Given the description of an element on the screen output the (x, y) to click on. 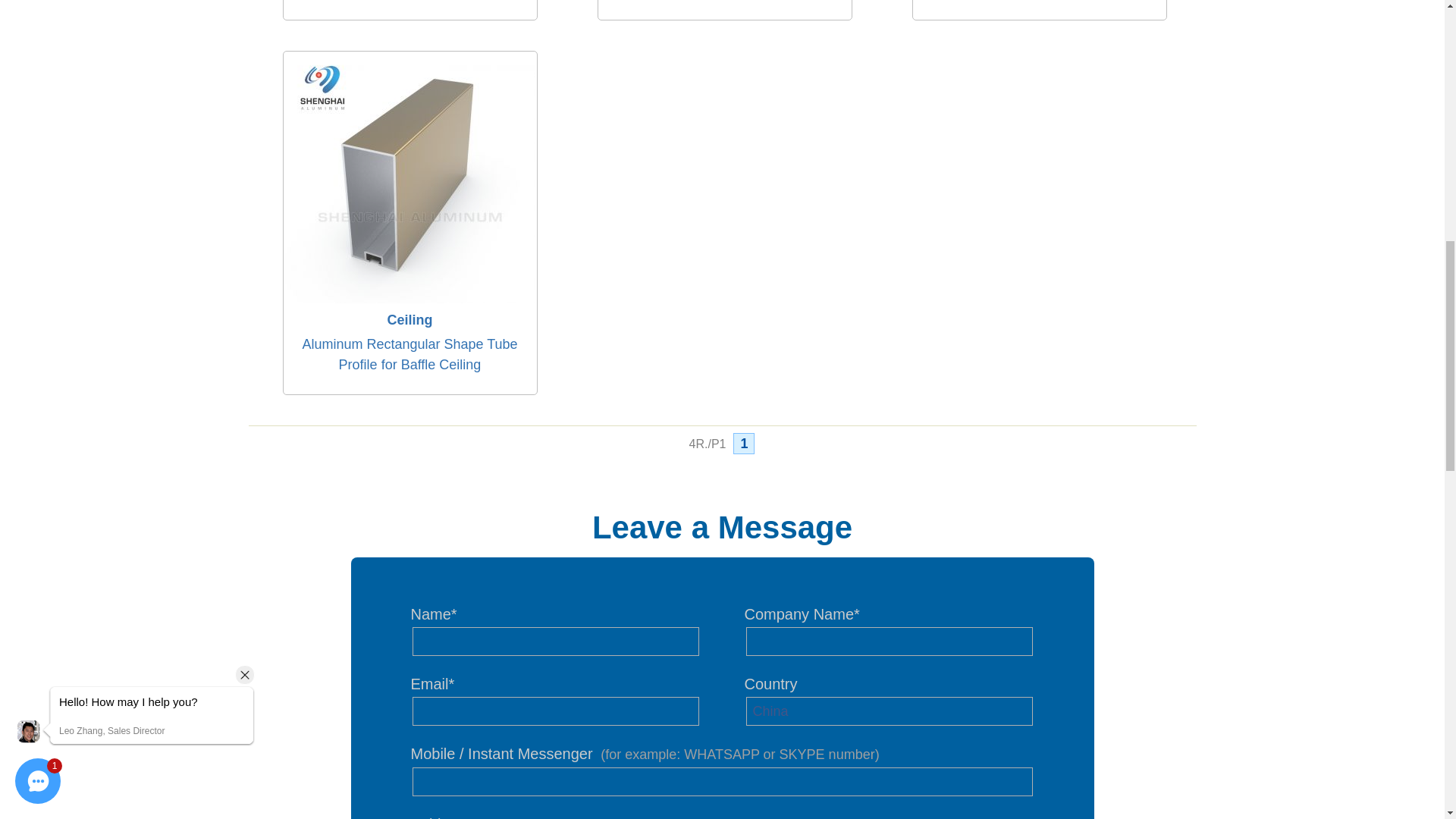
China (888, 710)
